Given the description of an element on the screen output the (x, y) to click on. 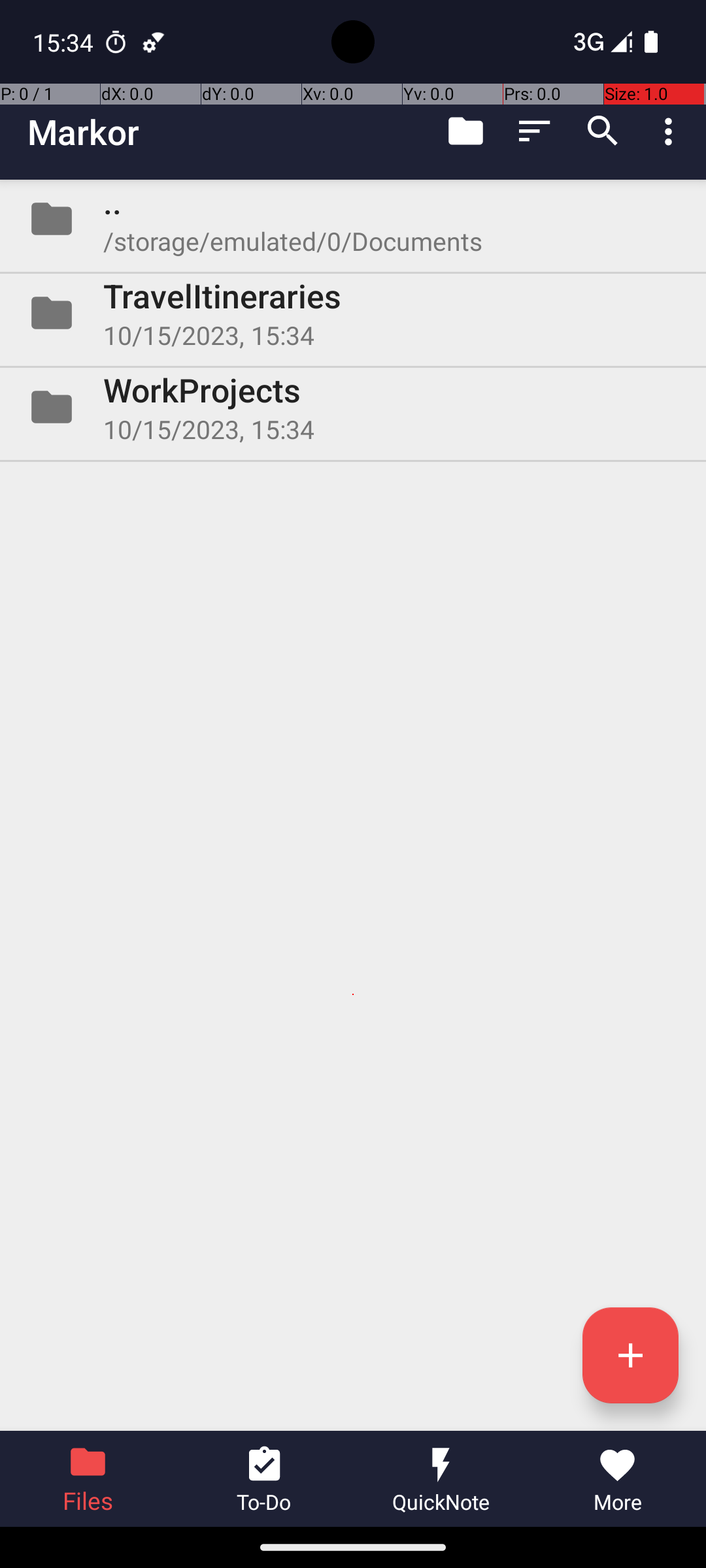
Folder TravelItineraries  Element type: android.widget.LinearLayout (353, 312)
Folder WorkProjects  Element type: android.widget.LinearLayout (353, 406)
